Given the description of an element on the screen output the (x, y) to click on. 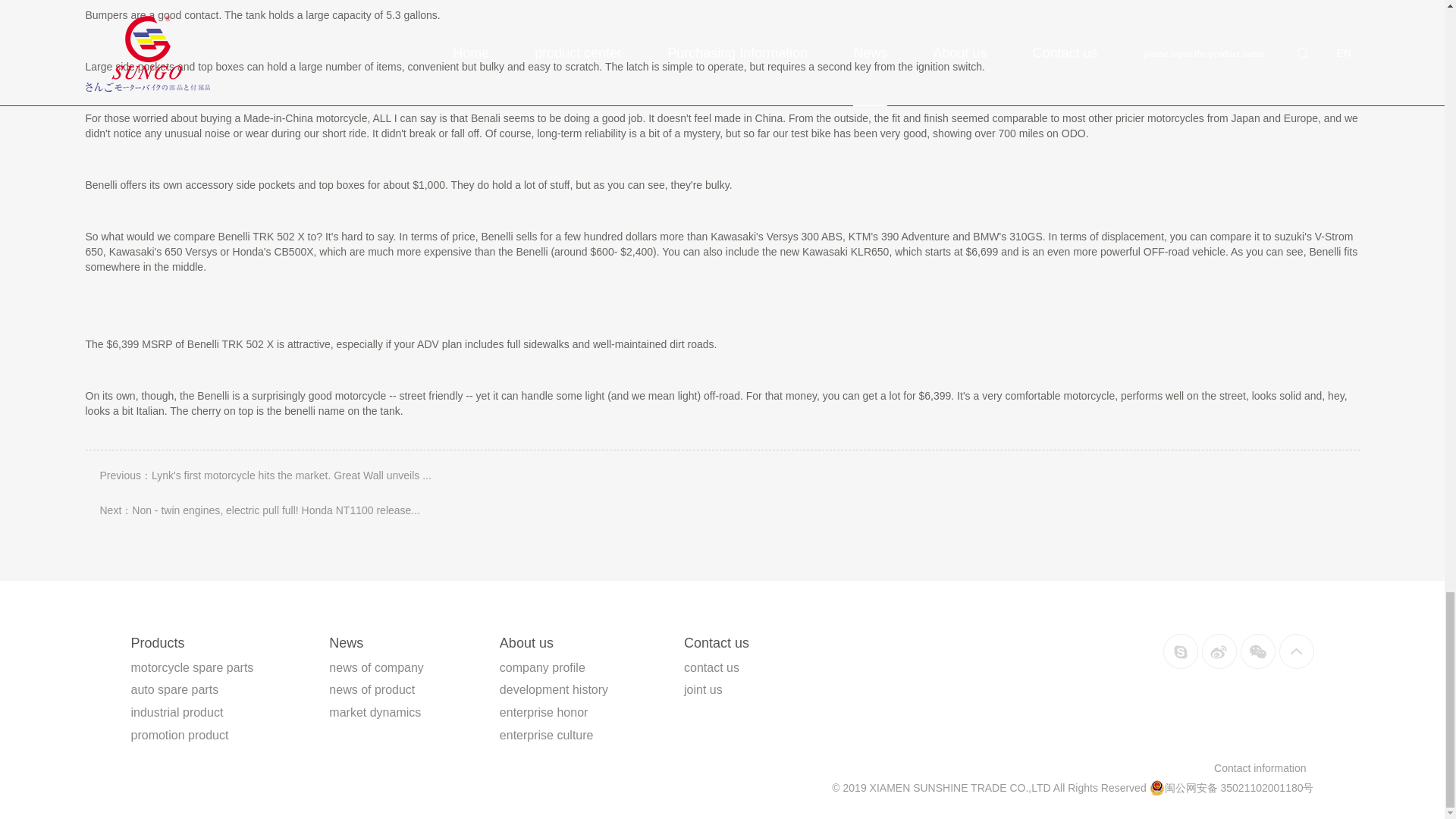
share to Sina Weibo (1218, 651)
industrial product (176, 712)
auto spare parts (174, 689)
promotion product (179, 735)
news of company (376, 667)
news of product (371, 689)
motorcycle spare parts (192, 667)
share to WeChat (1257, 651)
